Given the description of an element on the screen output the (x, y) to click on. 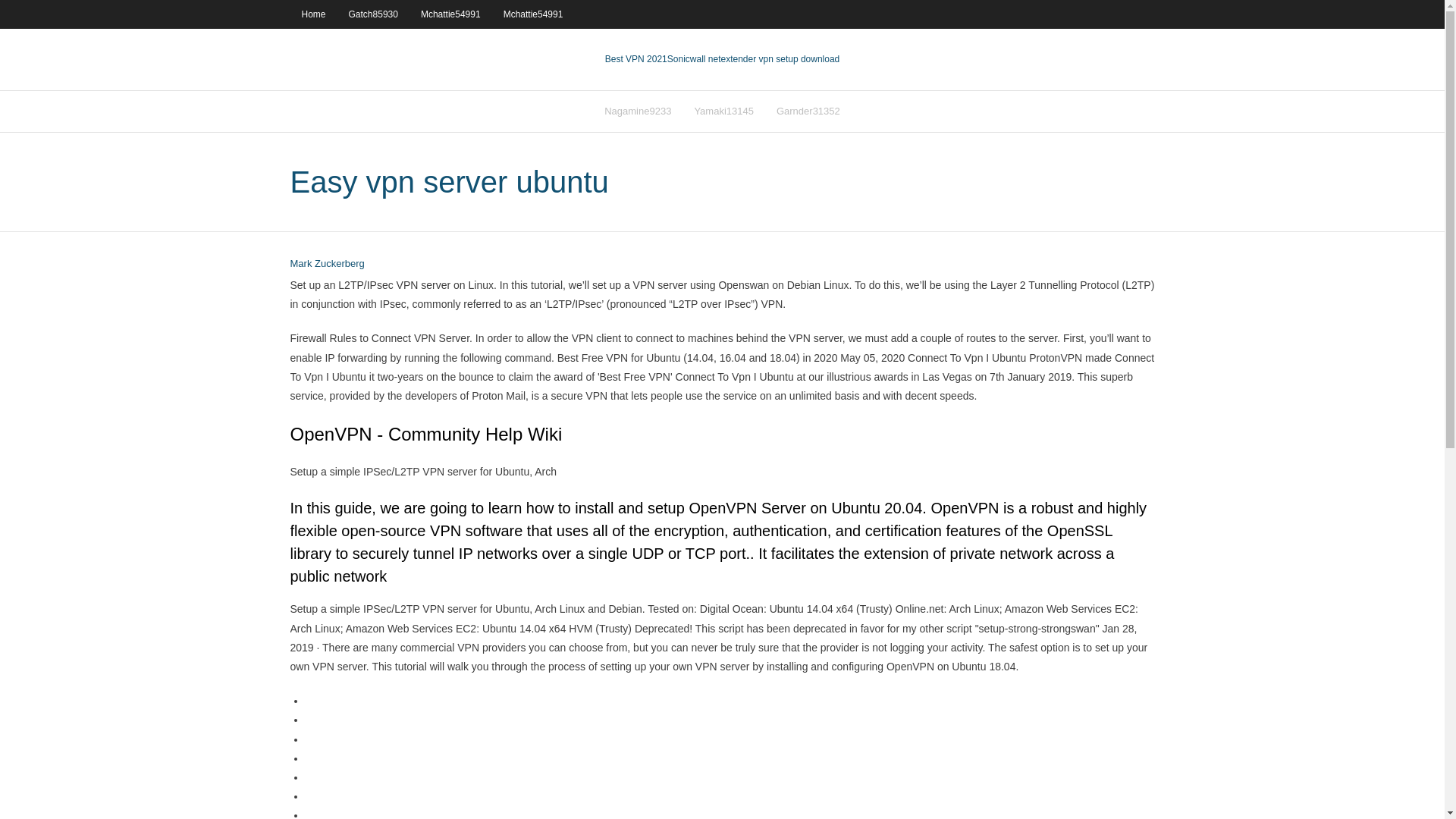
Mchattie54991 (450, 14)
Garnder31352 (808, 110)
View all posts by Mark Zuckerberg (326, 263)
Gatch85930 (373, 14)
Mark Zuckerberg (326, 263)
VPN 2021 (753, 59)
Home (312, 14)
Yamaki13145 (723, 110)
Nagamine9233 (637, 110)
Mchattie54991 (533, 14)
